Given the description of an element on the screen output the (x, y) to click on. 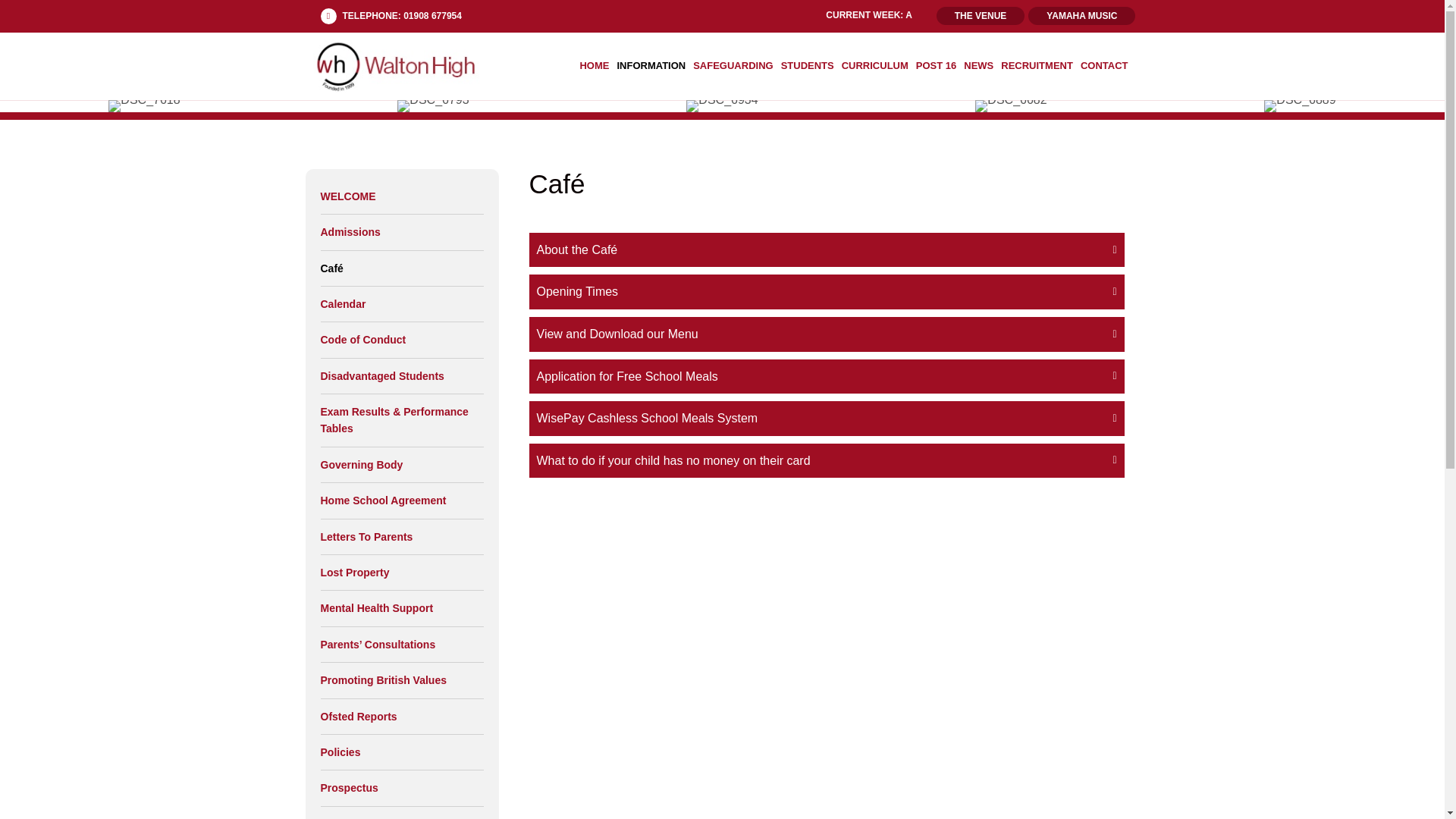
THE VENUE (980, 15)
INFORMATION (650, 65)
YAMAHA MUSIC (1081, 15)
HOME (593, 65)
STUDENTS (807, 65)
SAFEGUARDING (732, 65)
